Given the description of an element on the screen output the (x, y) to click on. 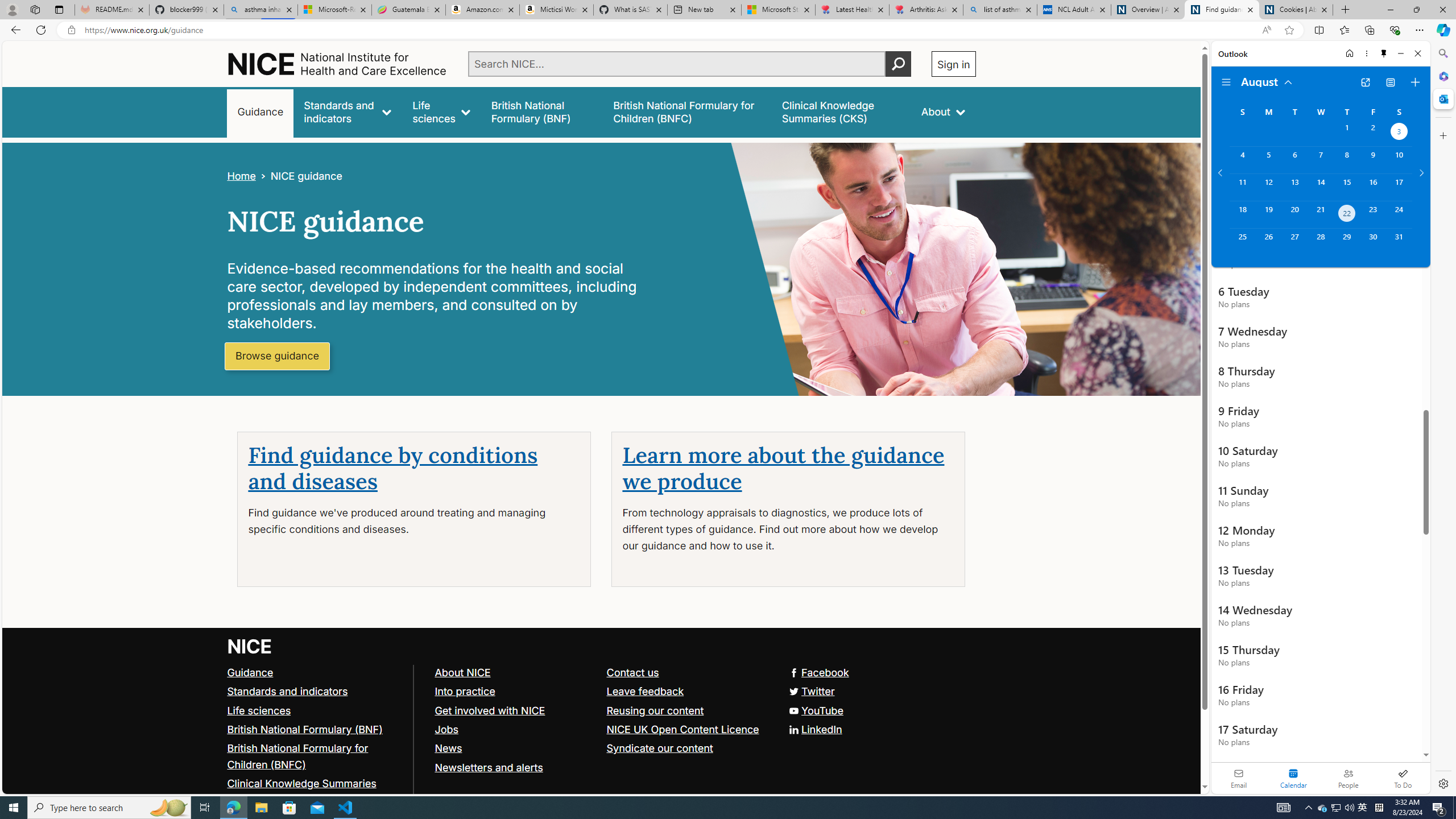
Wednesday, August 7, 2024.  (1320, 159)
Jobs (445, 729)
Get involved with NICE (514, 710)
Leave feedback (644, 690)
Reusing our content (686, 710)
Tuesday, August 6, 2024.  (1294, 159)
